Given the description of an element on the screen output the (x, y) to click on. 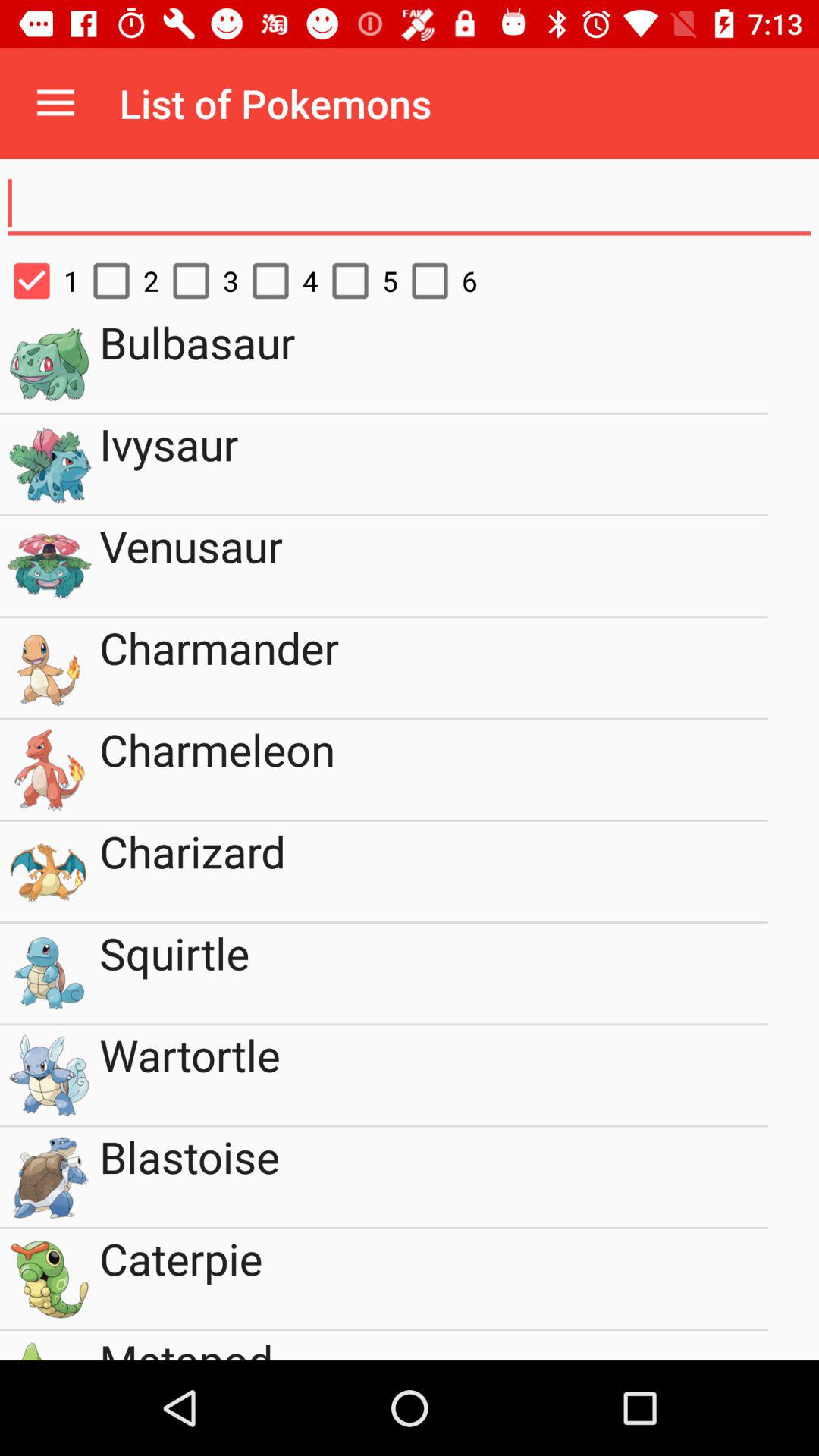
launch the item to the left of 4 item (198, 280)
